Given the description of an element on the screen output the (x, y) to click on. 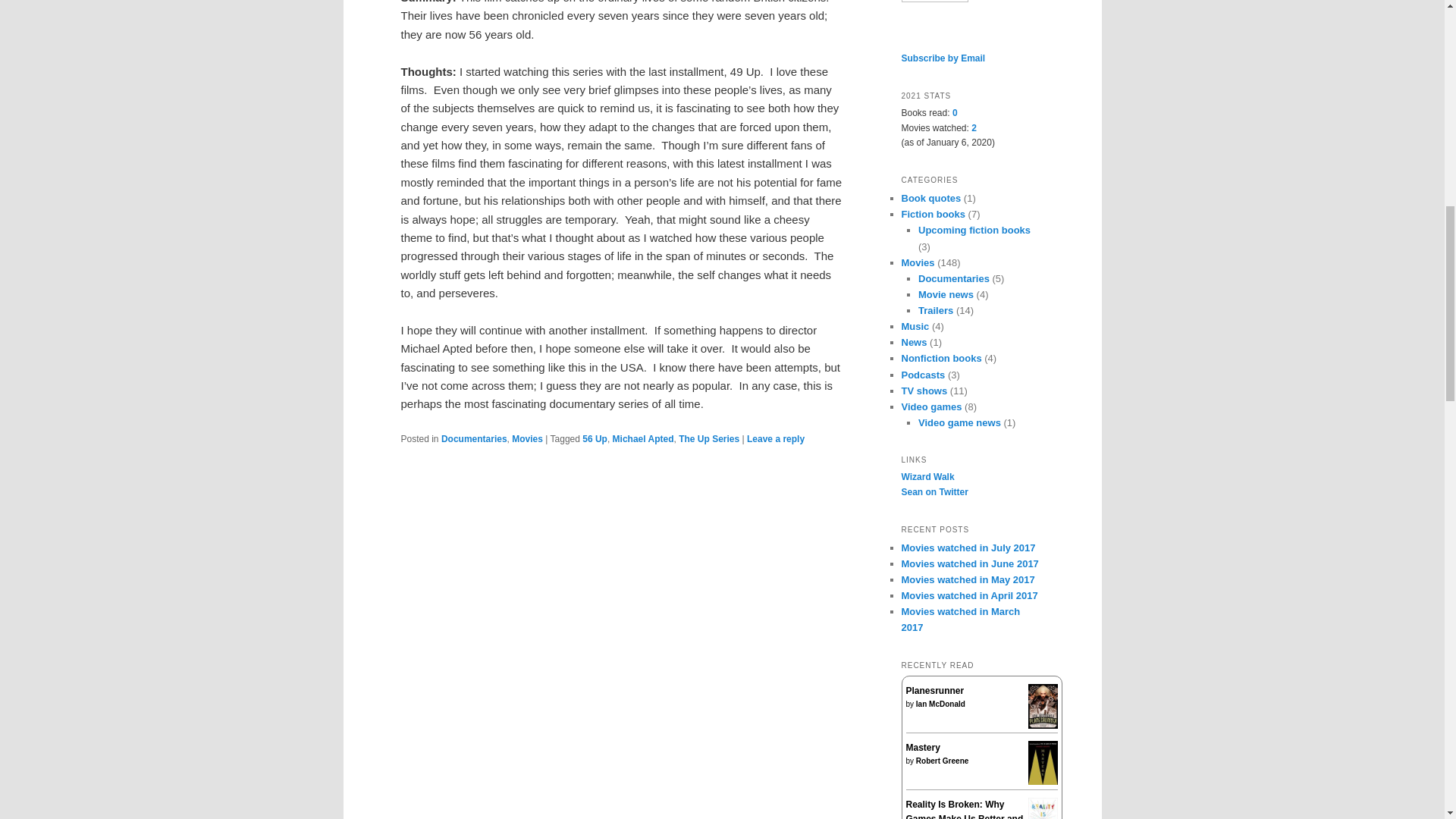
56 Up (594, 439)
Documentaries (473, 439)
Subscribe by Email (943, 58)
Michael Apted (643, 439)
Leave a reply (775, 439)
Mastery (1042, 781)
Movies (527, 439)
The Up Series (708, 439)
